Given the description of an element on the screen output the (x, y) to click on. 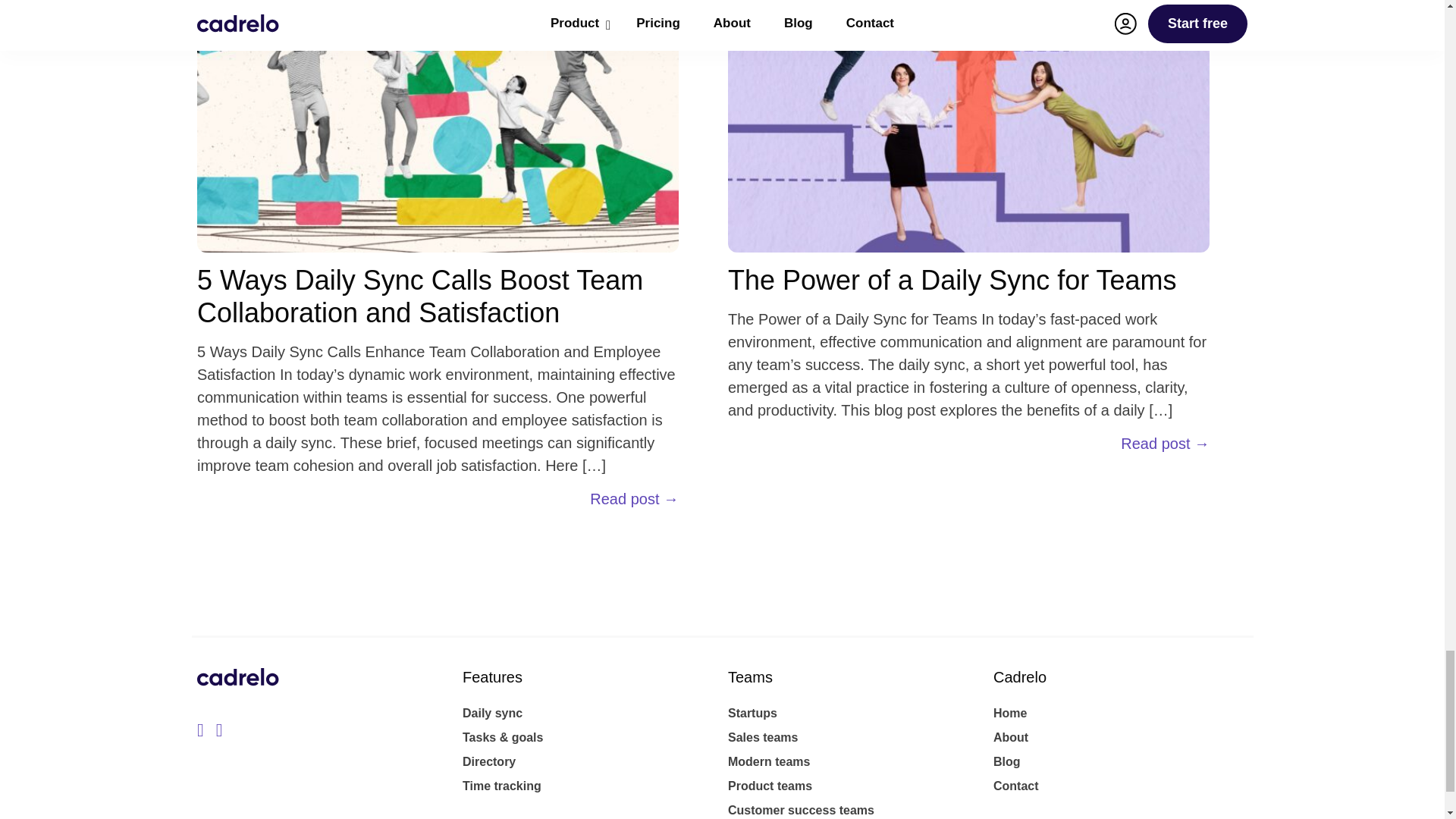
Cadrelo (237, 690)
